Given the description of an element on the screen output the (x, y) to click on. 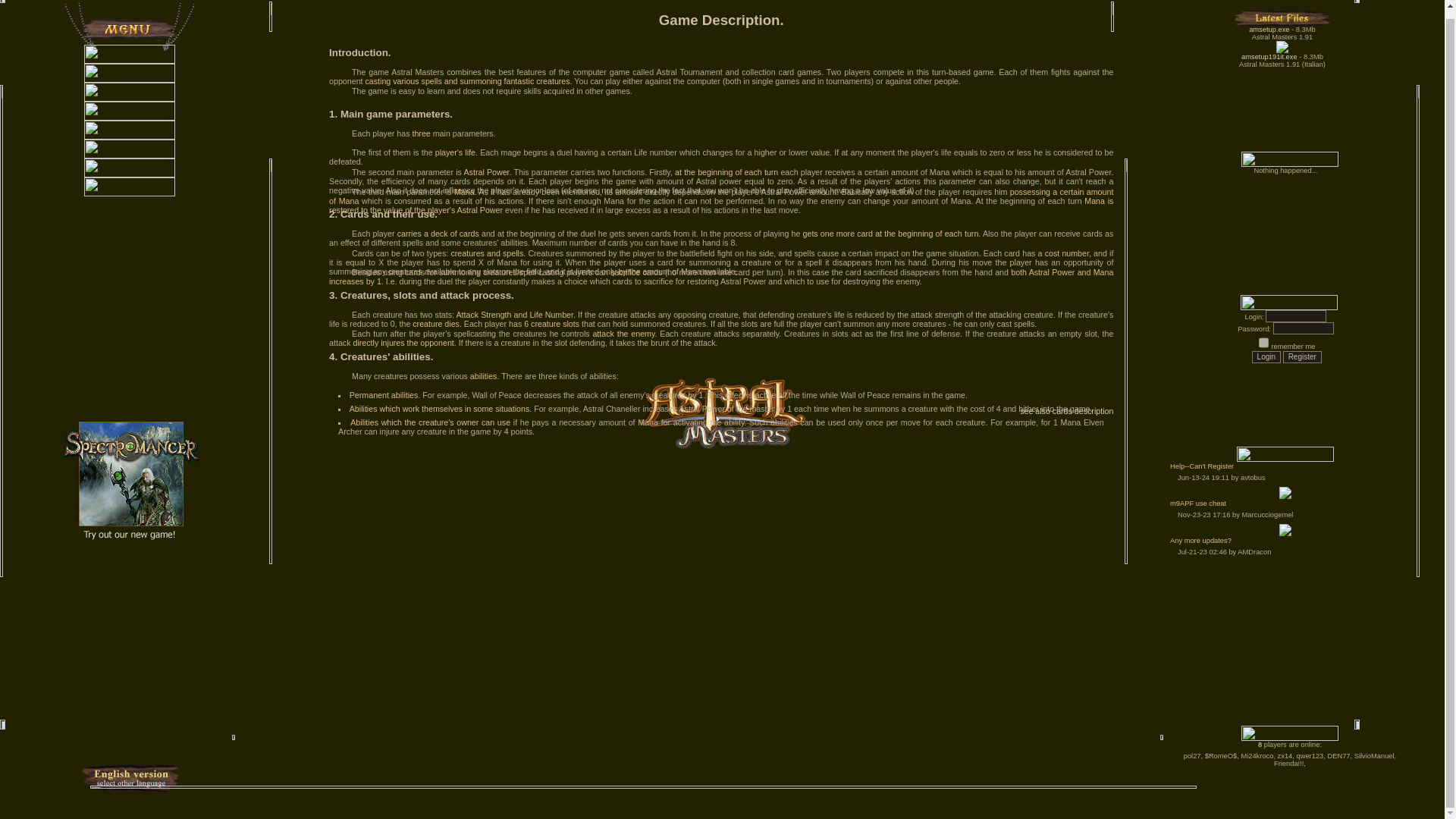
amsetup191it.exe (1269, 56)
m9APF use cheat (1291, 505)
Login (1266, 357)
see also cards description (1066, 410)
Y (1263, 342)
Any more updates? (1291, 542)
Help--Can't Register (1291, 468)
amsetup.exe (1268, 29)
Register (1302, 357)
Login (1266, 357)
